Given the description of an element on the screen output the (x, y) to click on. 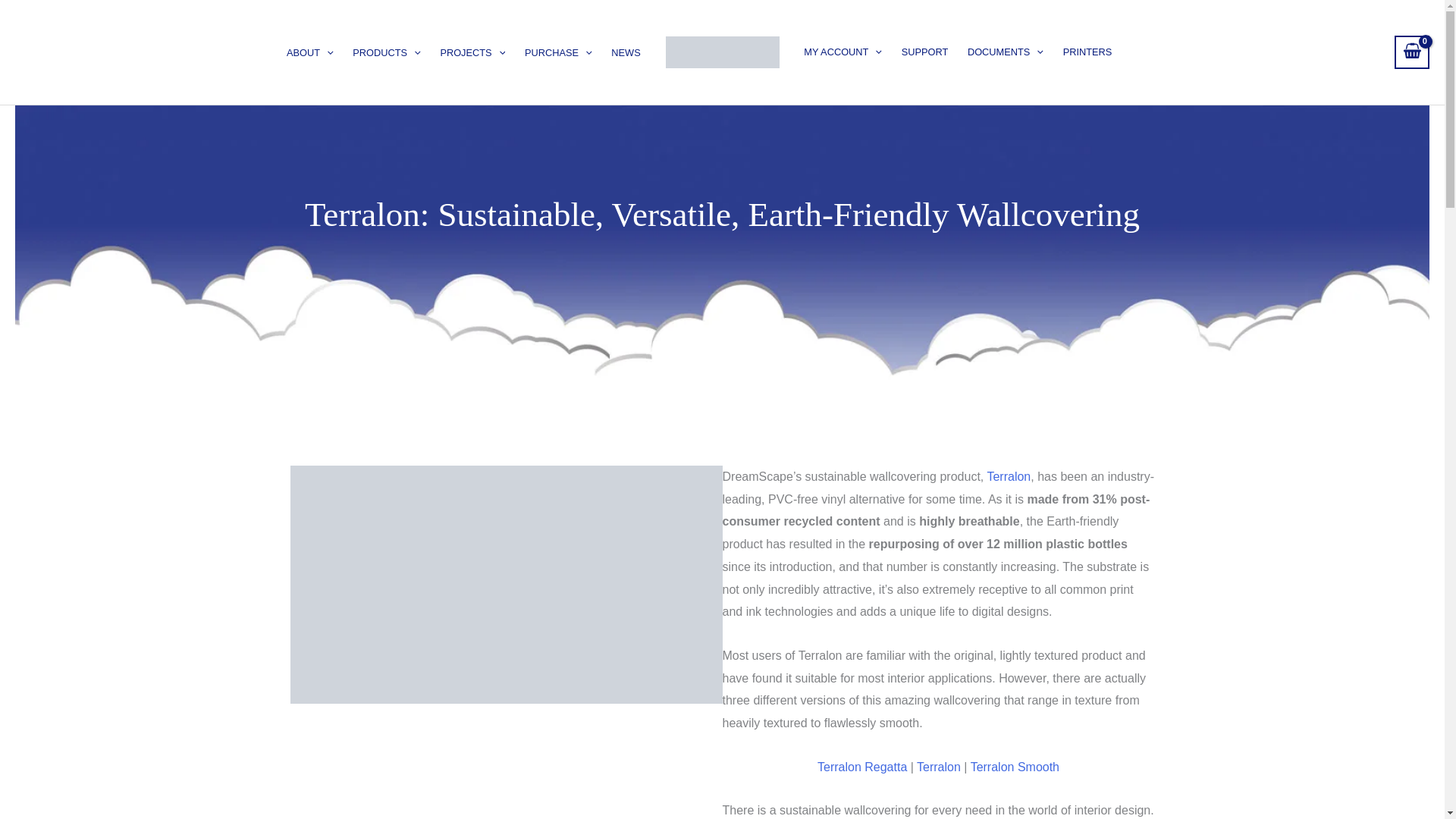
PRODUCTS (386, 53)
PROJECTS (472, 53)
PURCHASE (558, 53)
NEWS (626, 53)
ABOUT (309, 53)
